Given the description of an element on the screen output the (x, y) to click on. 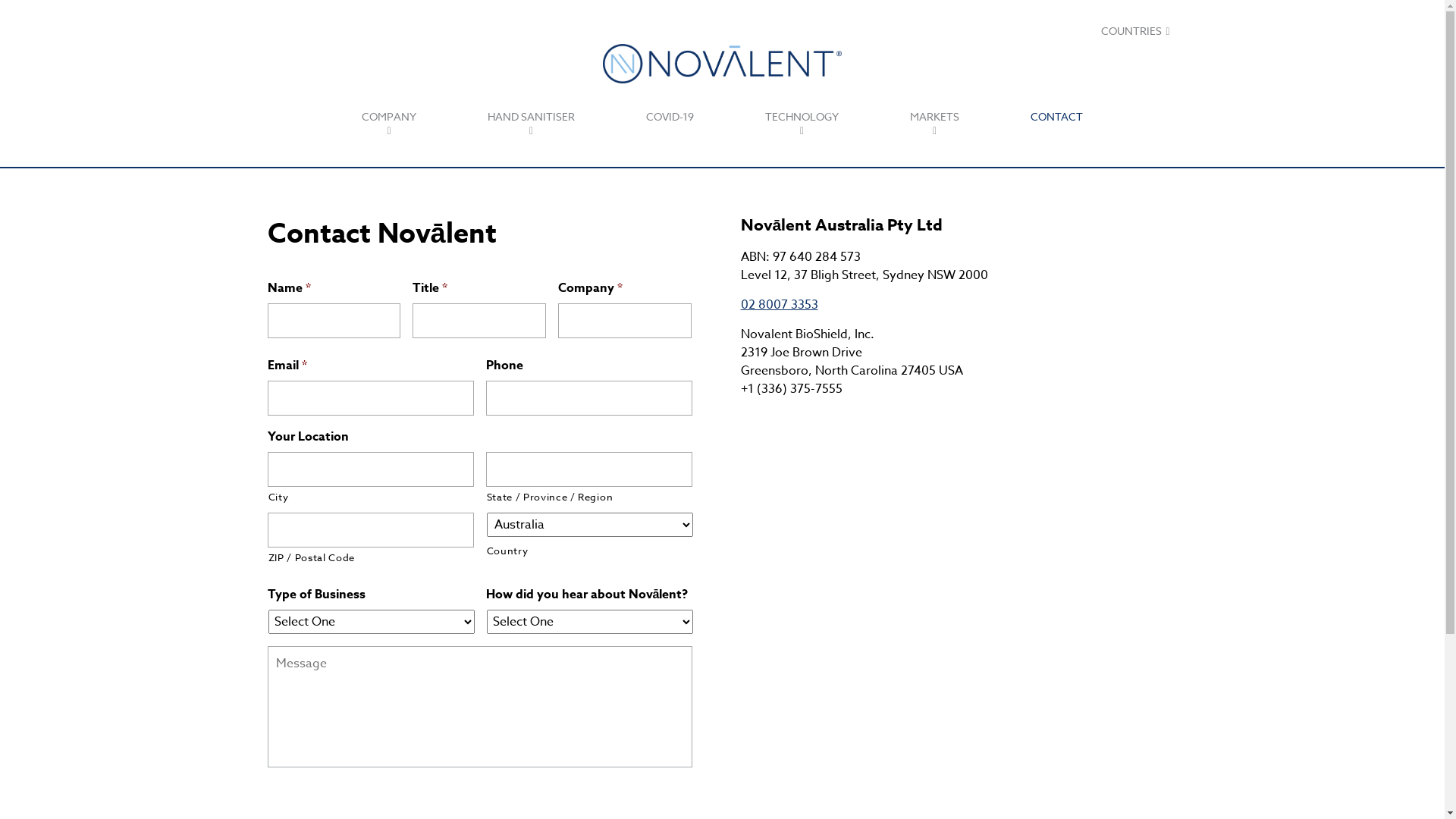
02 8007 3353 Element type: text (778, 304)
COUNTRIES Element type: text (1135, 30)
MARKETS Element type: text (934, 123)
COVID-19 Element type: text (669, 116)
HAND SANITISER Element type: text (531, 123)
CONTACT Element type: text (1056, 116)
TECHNOLOGY Element type: text (801, 123)
COMPANY Element type: text (388, 123)
